Given the description of an element on the screen output the (x, y) to click on. 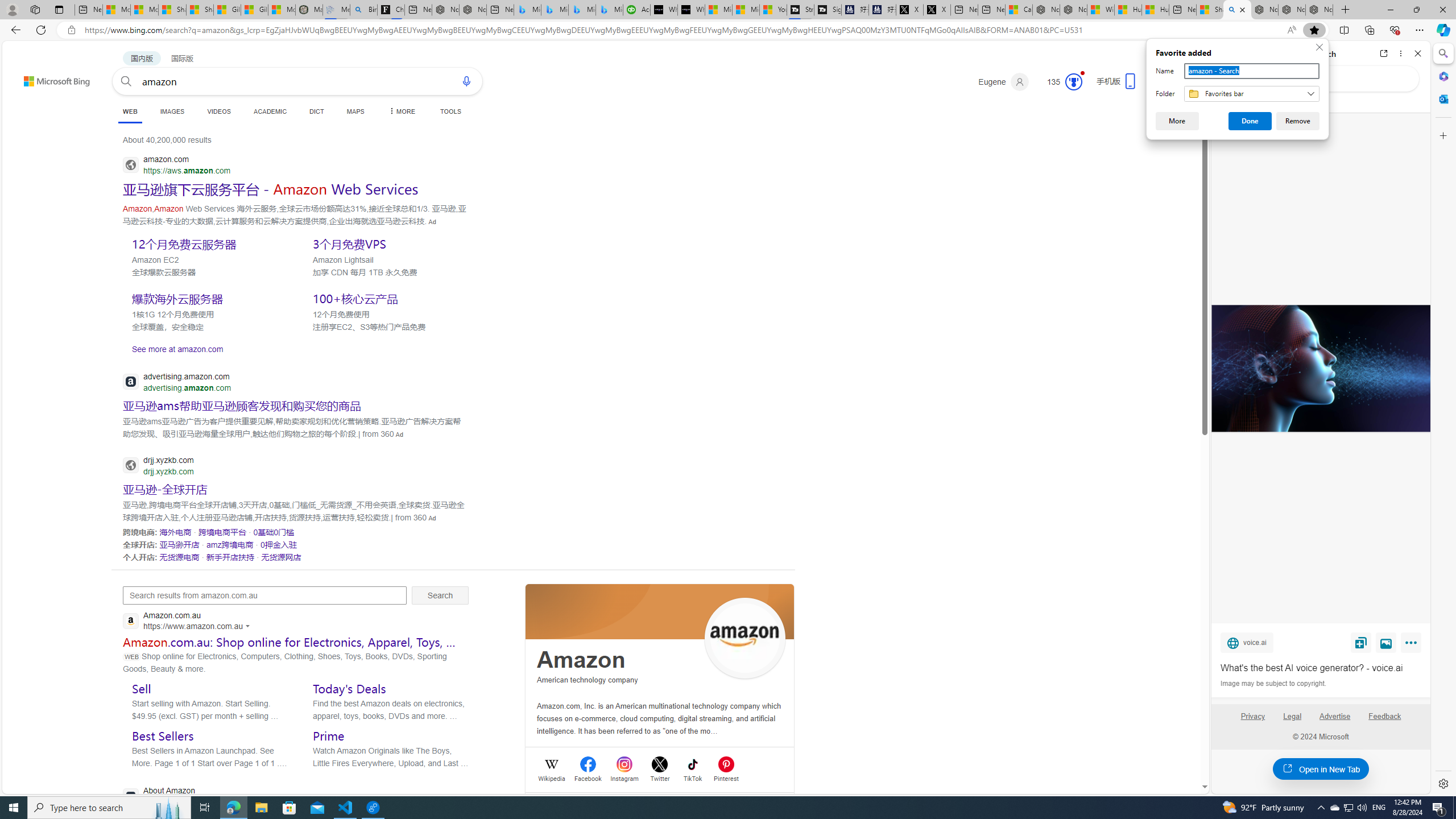
AutomationID: mfa_root (1161, 752)
MAPS (355, 111)
Microsoft Rewards 132 (1059, 81)
ACADEMIC (269, 111)
Wikipedia (551, 777)
Actions for this site (249, 625)
Chloe Sorvino (390, 9)
SERP,5564 (165, 488)
Open link in new tab (1383, 53)
Microsoft Edge - 1 running window (233, 807)
